Given the description of an element on the screen output the (x, y) to click on. 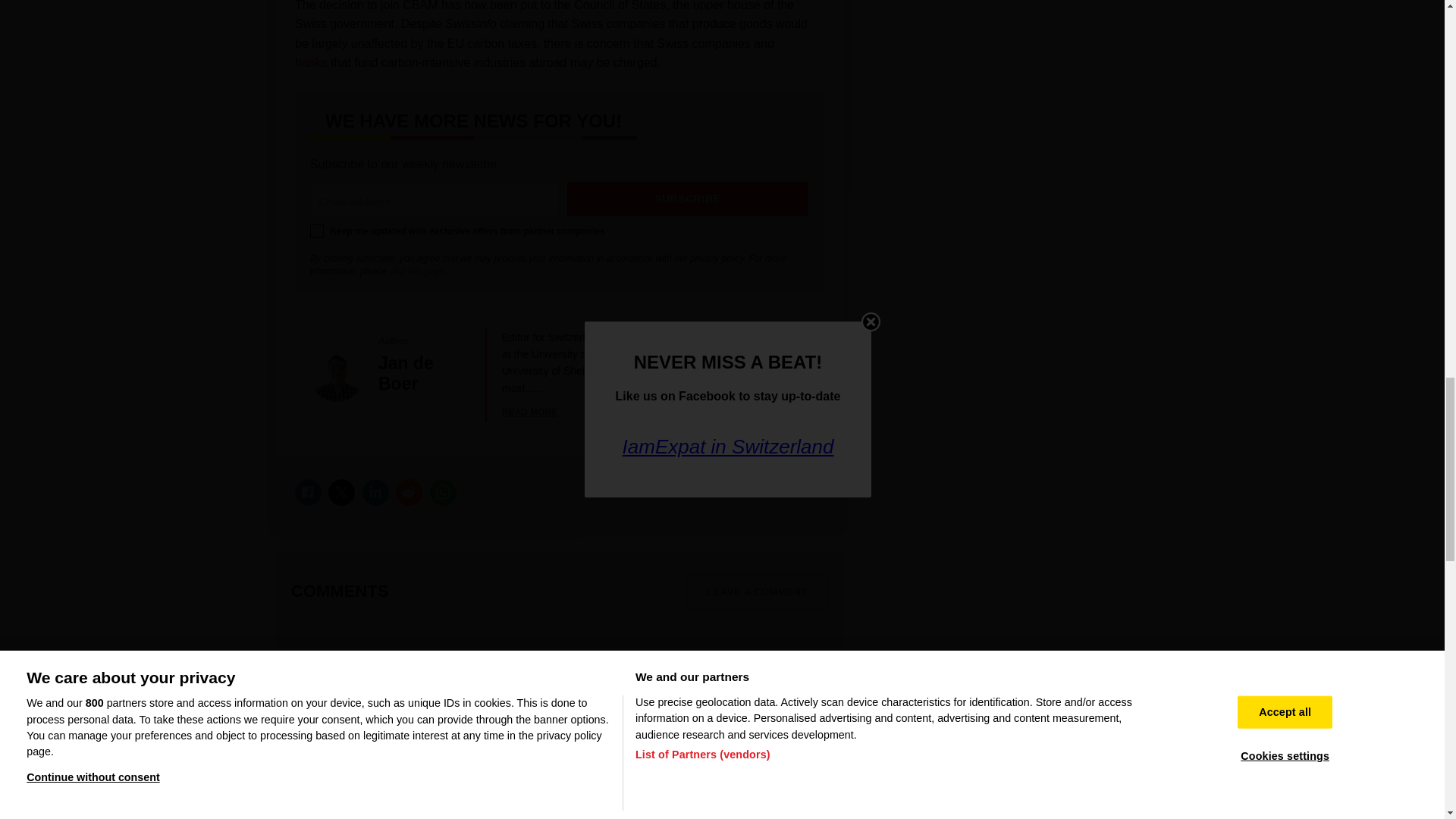
Subscribe (688, 198)
Leave a comment (757, 591)
